Given the description of an element on the screen output the (x, y) to click on. 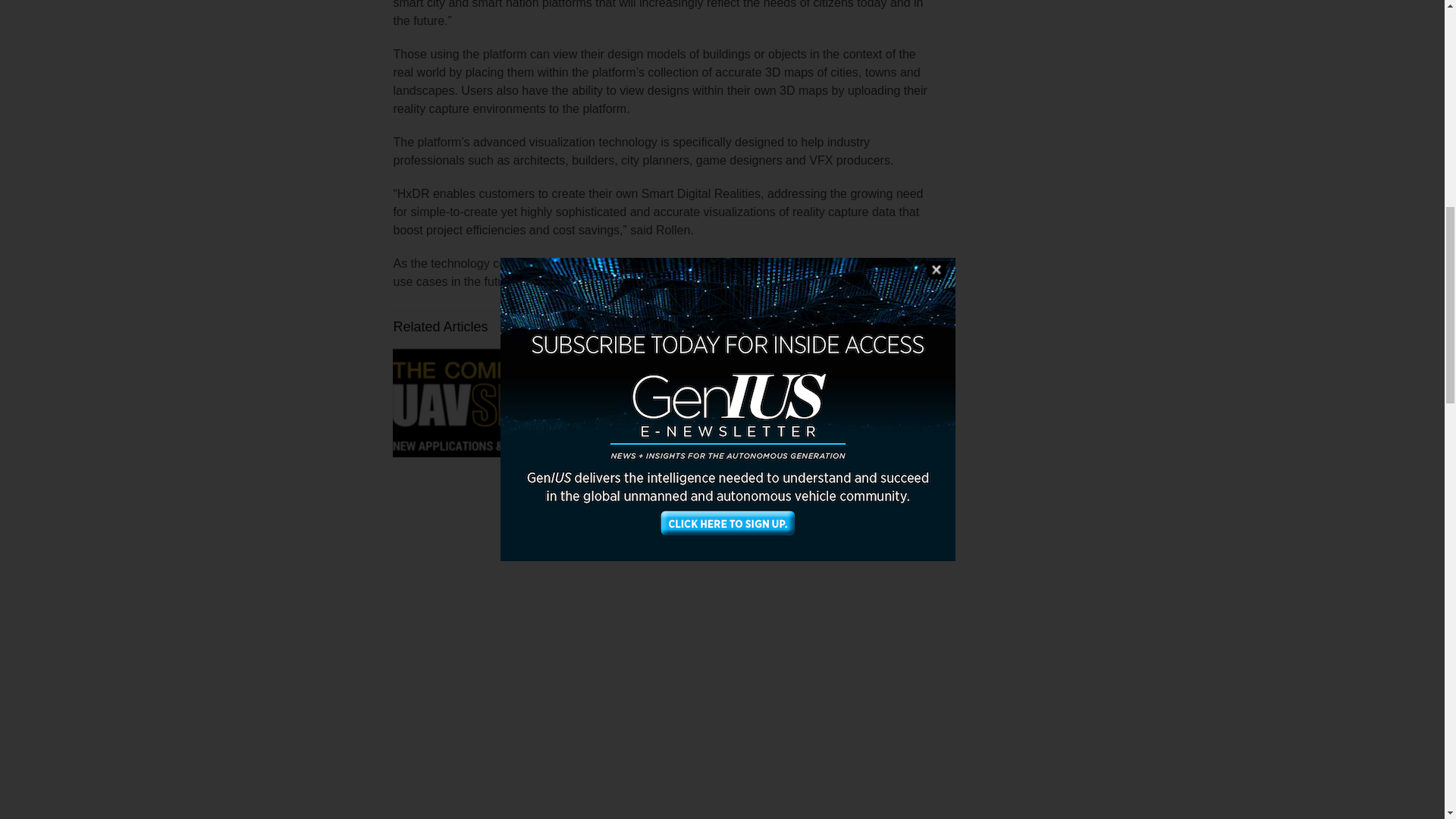
3rd party ad content (1073, 524)
3rd party ad content (1073, 726)
3rd party ad content (296, 28)
3rd party ad content (1073, 318)
3rd party ad content (1073, 113)
